Given the description of an element on the screen output the (x, y) to click on. 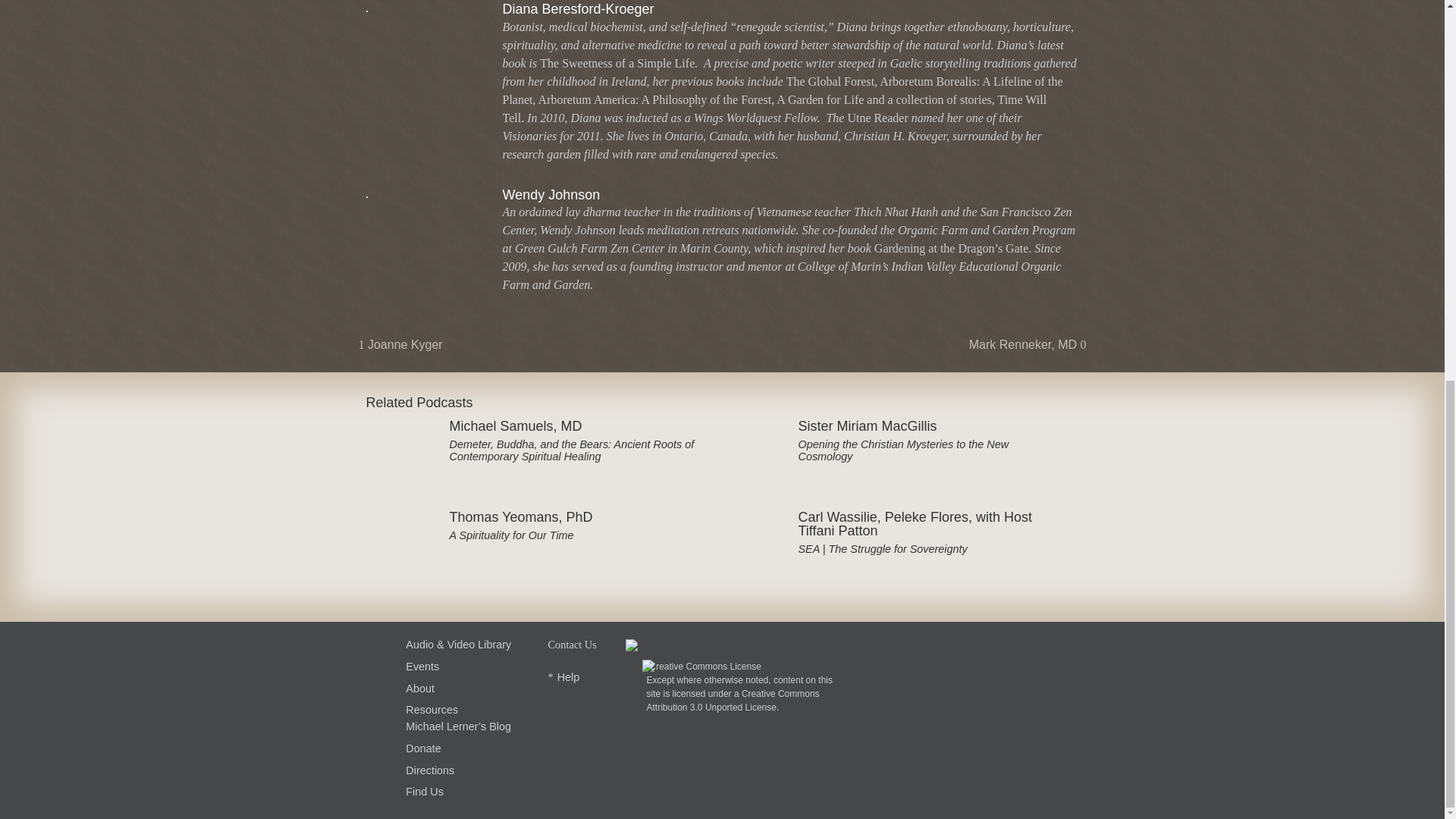
Events (422, 666)
Mark Renneker, MD 0 (1027, 344)
Donate (423, 748)
Resources (432, 709)
About (419, 688)
Contact Us (571, 644)
Find Us (425, 791)
1 Joanne Kyger (400, 344)
Help (568, 676)
Directions (430, 770)
